Given the description of an element on the screen output the (x, y) to click on. 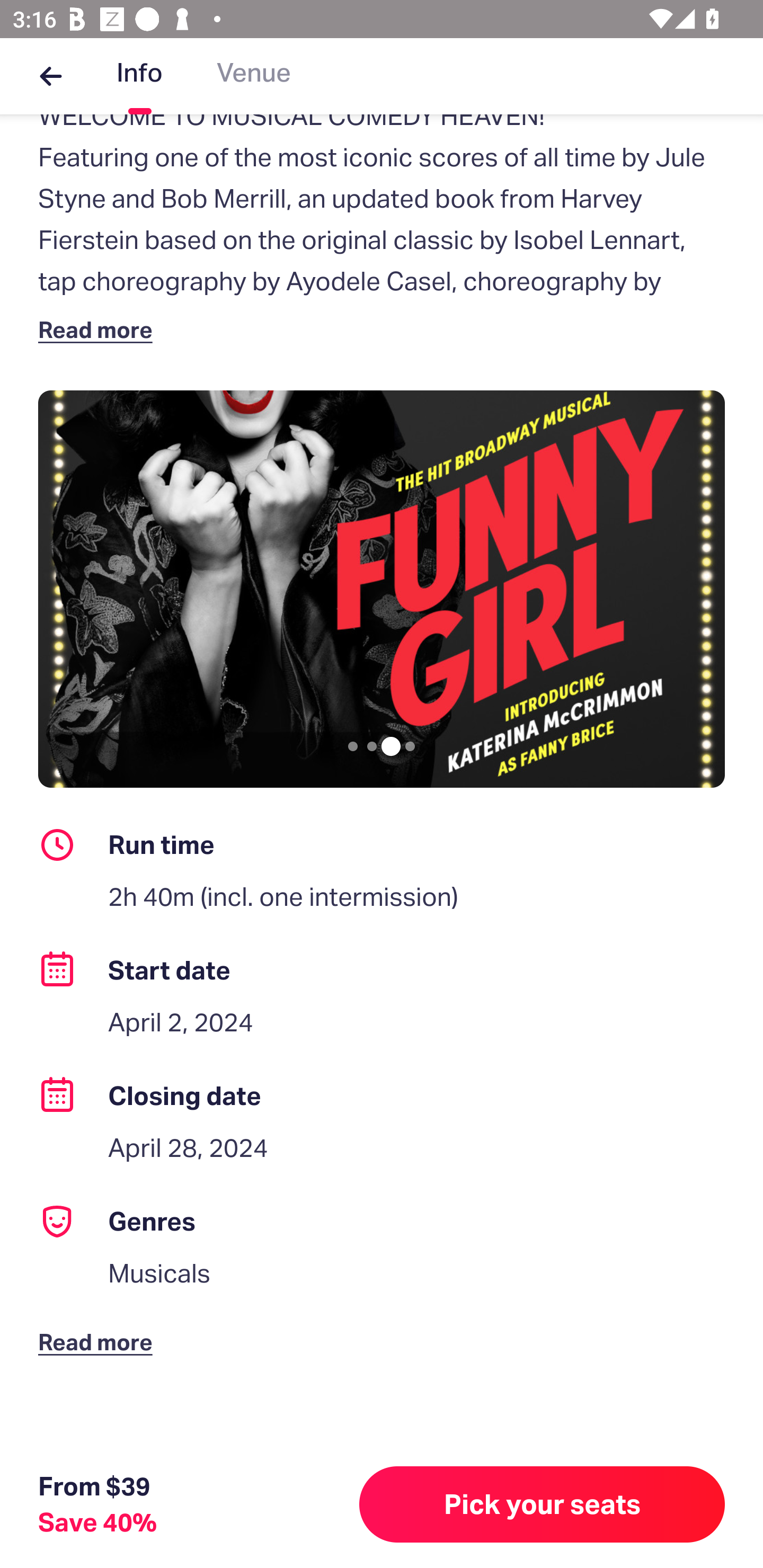
Venue (253, 75)
Read more (99, 328)
Read more (99, 1327)
Pick your seats (541, 1504)
